Given the description of an element on the screen output the (x, y) to click on. 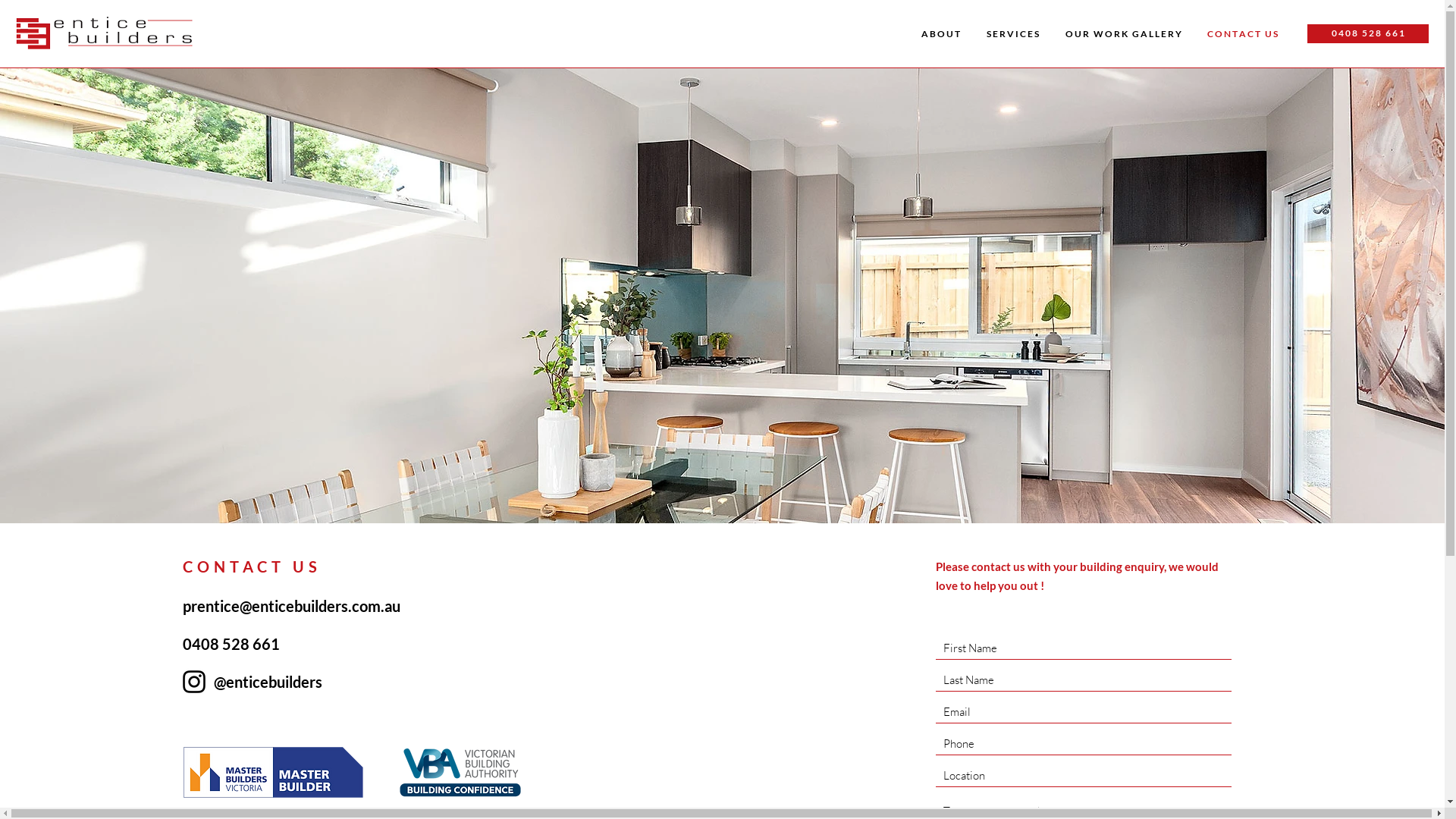
0 4 0 8   5 2 8   6 6 1 Element type: text (1367, 33)
prentice@enticebuilders.com.au Element type: text (291, 605)
S E R V I C E S Element type: text (1011, 33)
A B O U T Element type: text (939, 33)
O U R   W O R K   G A L L E R Y Element type: text (1122, 33)
0408 528 661 Element type: text (230, 643)
@enticebuilders Element type: text (267, 681)
C O N T A C T   U S Element type: text (1242, 33)
